Given the description of an element on the screen output the (x, y) to click on. 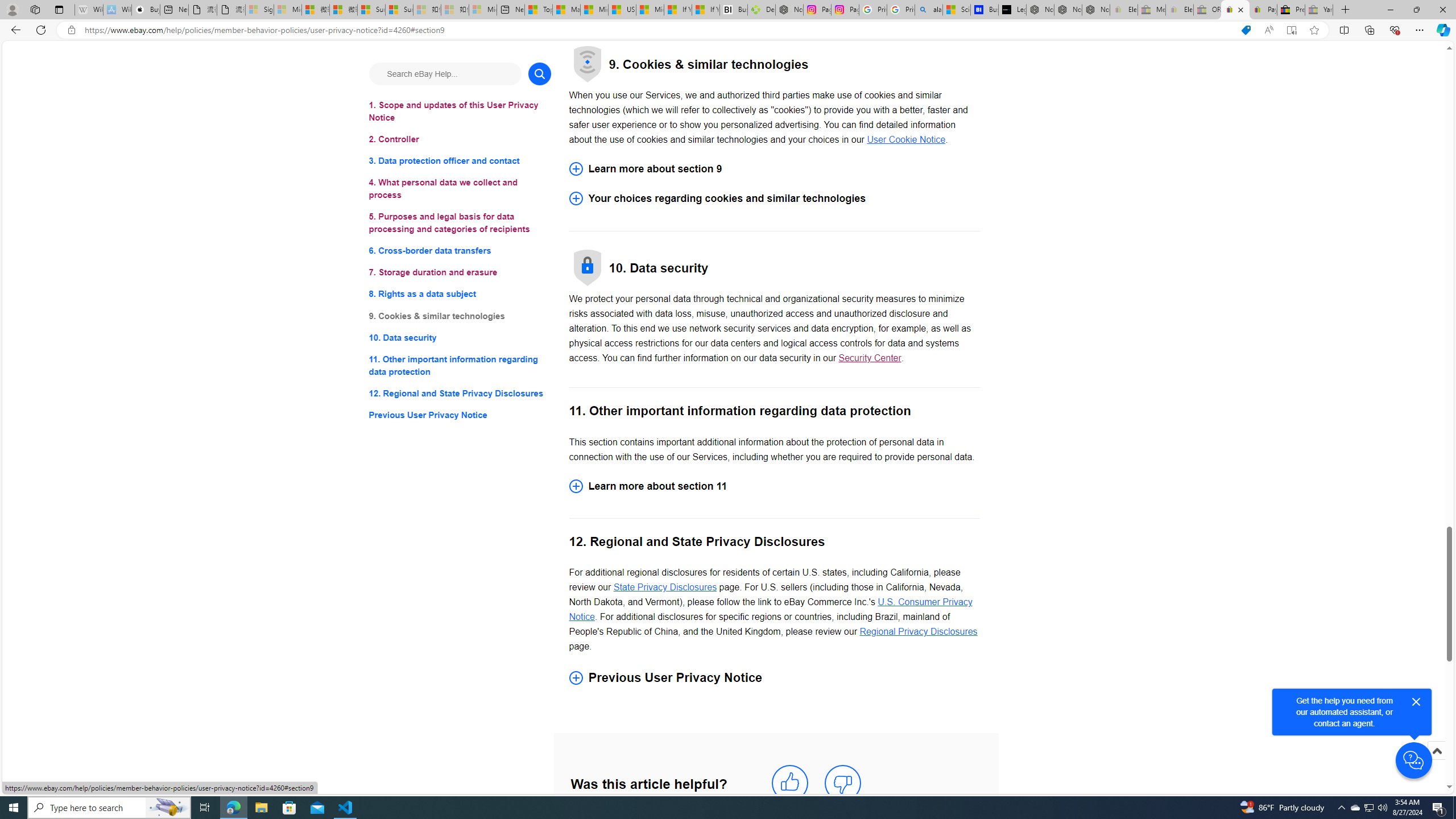
9. Cookies & similar technologies (459, 315)
User Privacy Notice | eBay (1235, 9)
Scroll to top (1435, 750)
Previous User Privacy Notice (774, 677)
This site has coupons! Shopping in Microsoft Edge (1245, 29)
Security Center - opens in new window or tab (869, 357)
Descarga Driver Updater (761, 9)
